Given the description of an element on the screen output the (x, y) to click on. 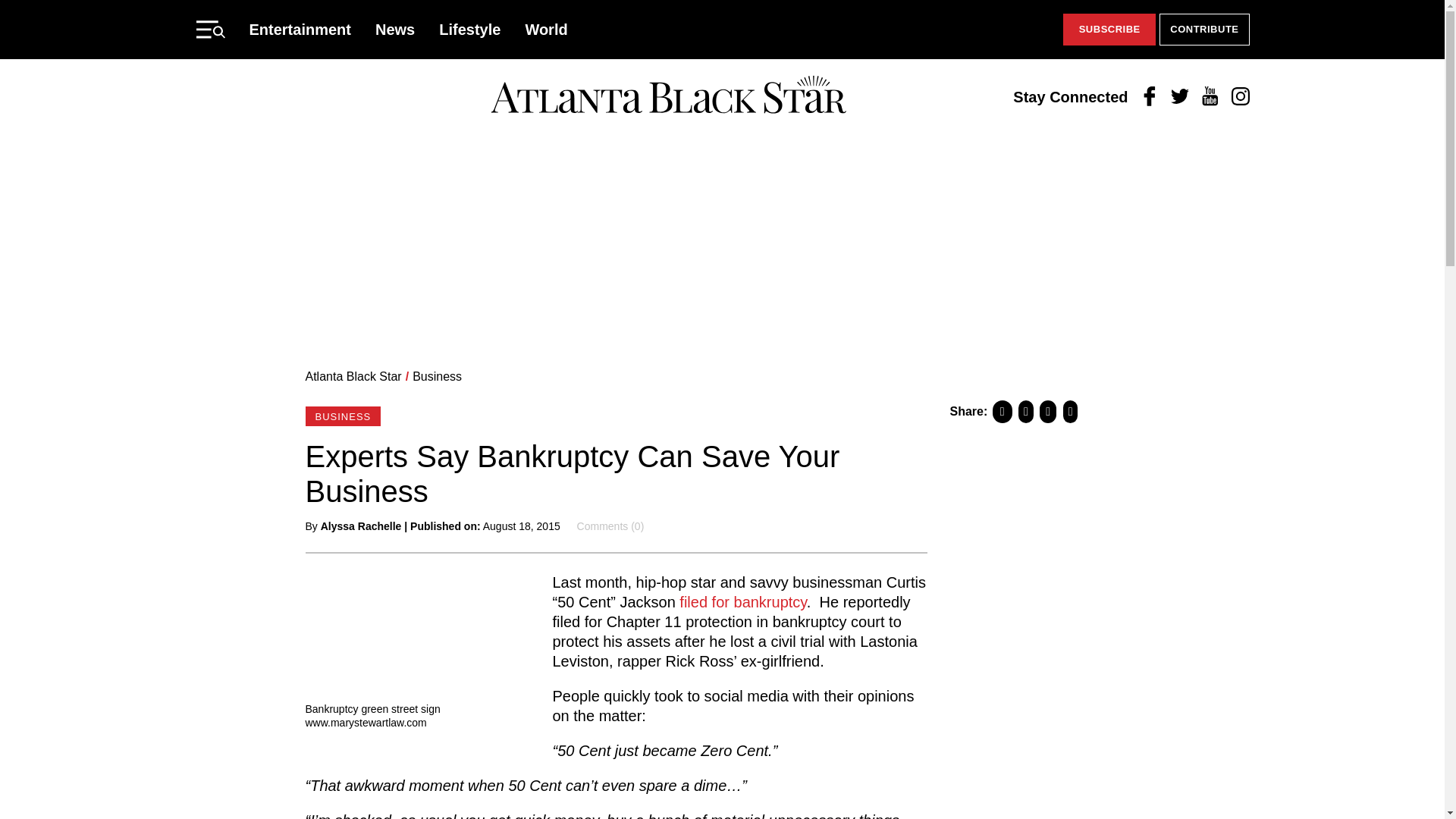
Business (436, 376)
CONTRIBUTE (1203, 29)
Go to Atlanta Black Star. (352, 376)
SUBSCRIBE (1109, 29)
World (545, 29)
Atlanta Black Star (352, 376)
News (394, 29)
Entertainment (299, 29)
BUSINESS (342, 415)
Alyssa Rachelle (360, 526)
